Given the description of an element on the screen output the (x, y) to click on. 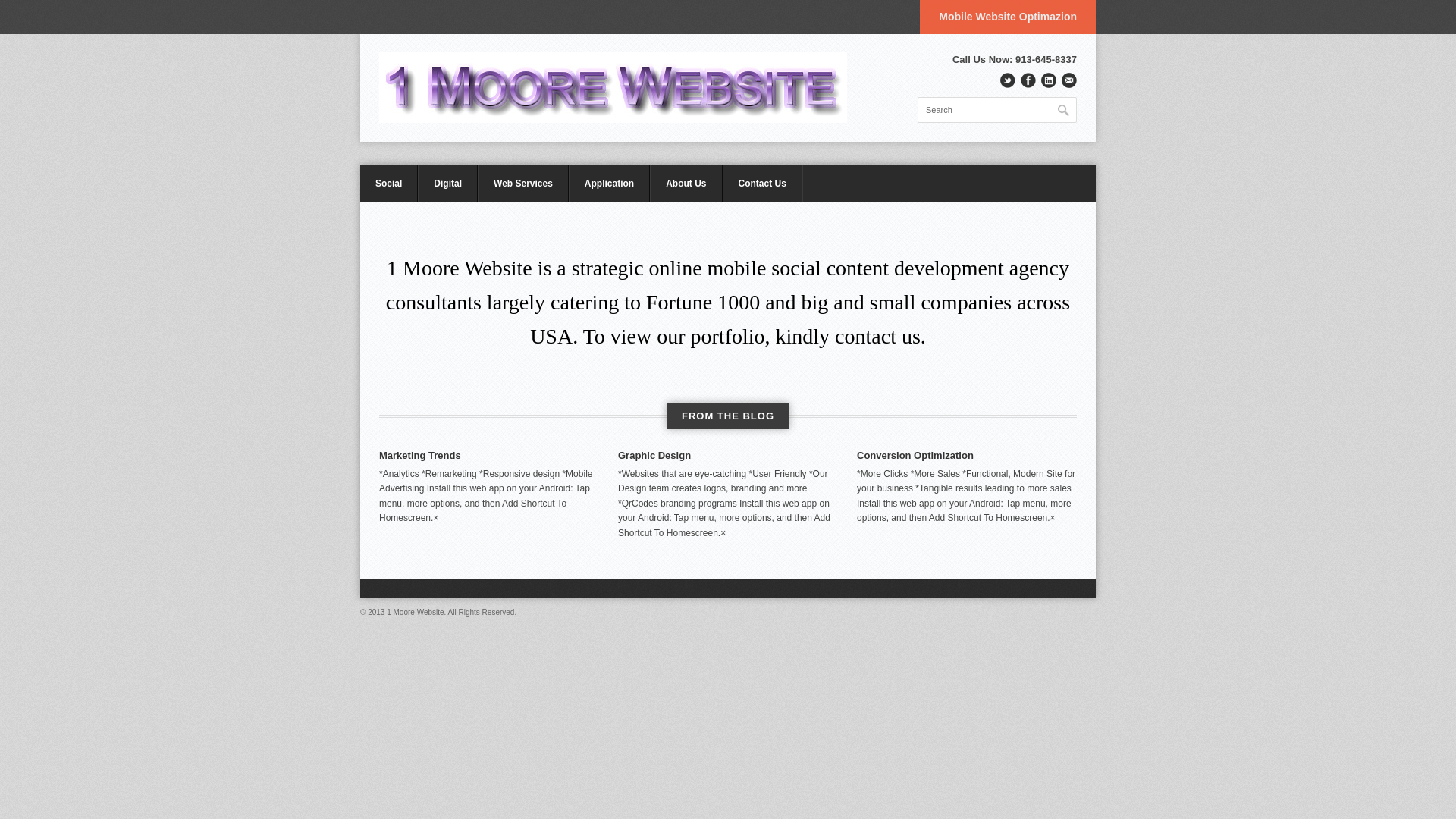
Graphic Design Element type: text (654, 455)
Social Element type: text (388, 183)
Digital Element type: text (447, 183)
About Us Element type: text (685, 183)
1 Moore Website Element type: hover (613, 87)
Web Services Element type: text (522, 183)
Conversion Optimization Element type: text (914, 455)
twitter Element type: hover (1007, 79)
Mobile Website Optimazion Element type: text (1007, 17)
mail Element type: hover (1068, 79)
Application Element type: text (608, 183)
Marketing Trends Element type: text (420, 455)
facebook Element type: hover (1027, 79)
Contact Us Element type: text (762, 183)
linkedin Element type: hover (1048, 79)
